Given the description of an element on the screen output the (x, y) to click on. 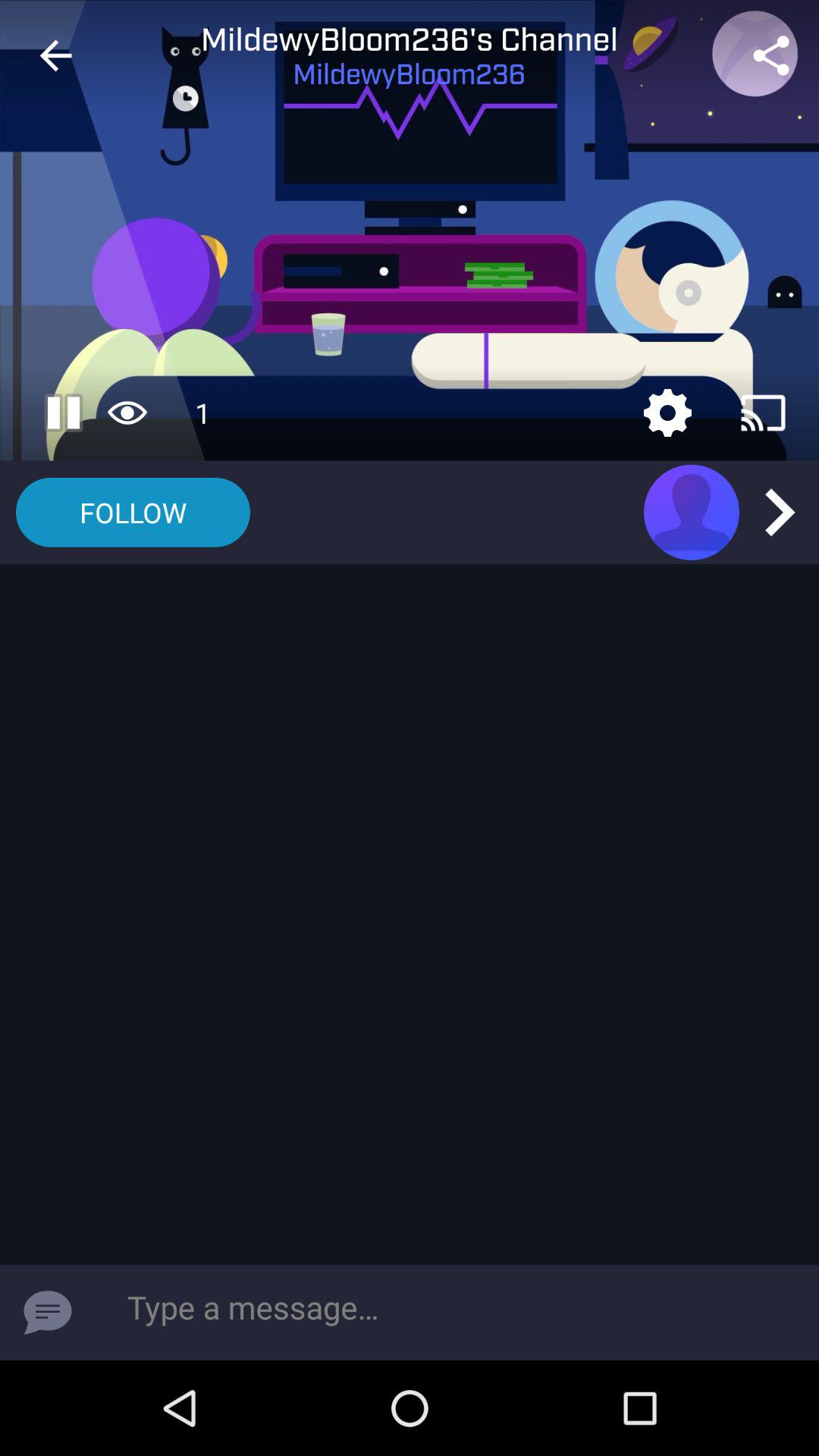
view this person 's profile (691, 512)
